Given the description of an element on the screen output the (x, y) to click on. 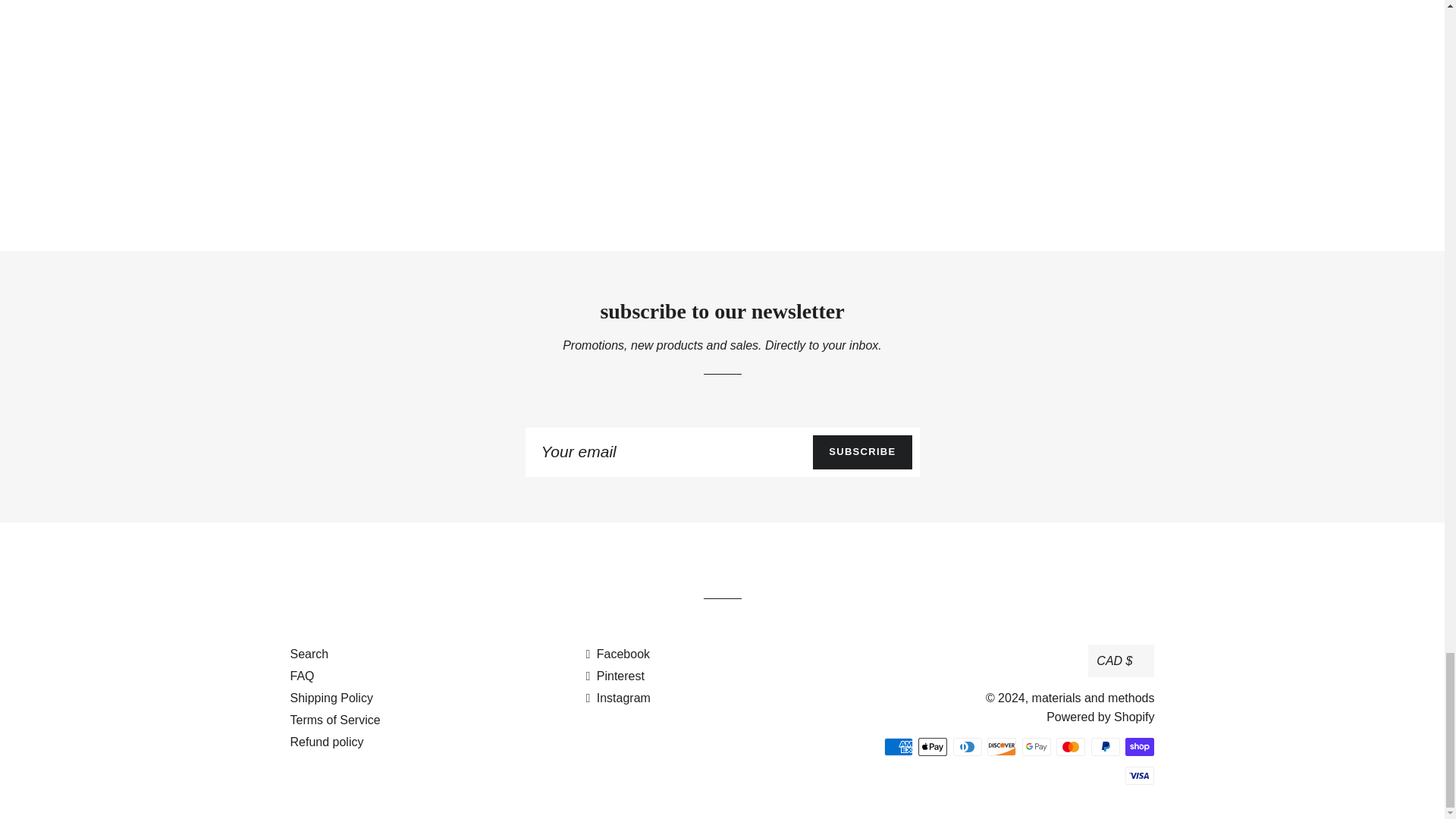
materials and methods on Facebook (617, 653)
Discover (1001, 746)
Shipping Policy (330, 697)
Diners Club (967, 746)
Visa (1139, 775)
Mastercard (1070, 746)
Shop Pay (1139, 746)
Facebook (617, 653)
Search (309, 653)
Refund policy (325, 741)
